Given the description of an element on the screen output the (x, y) to click on. 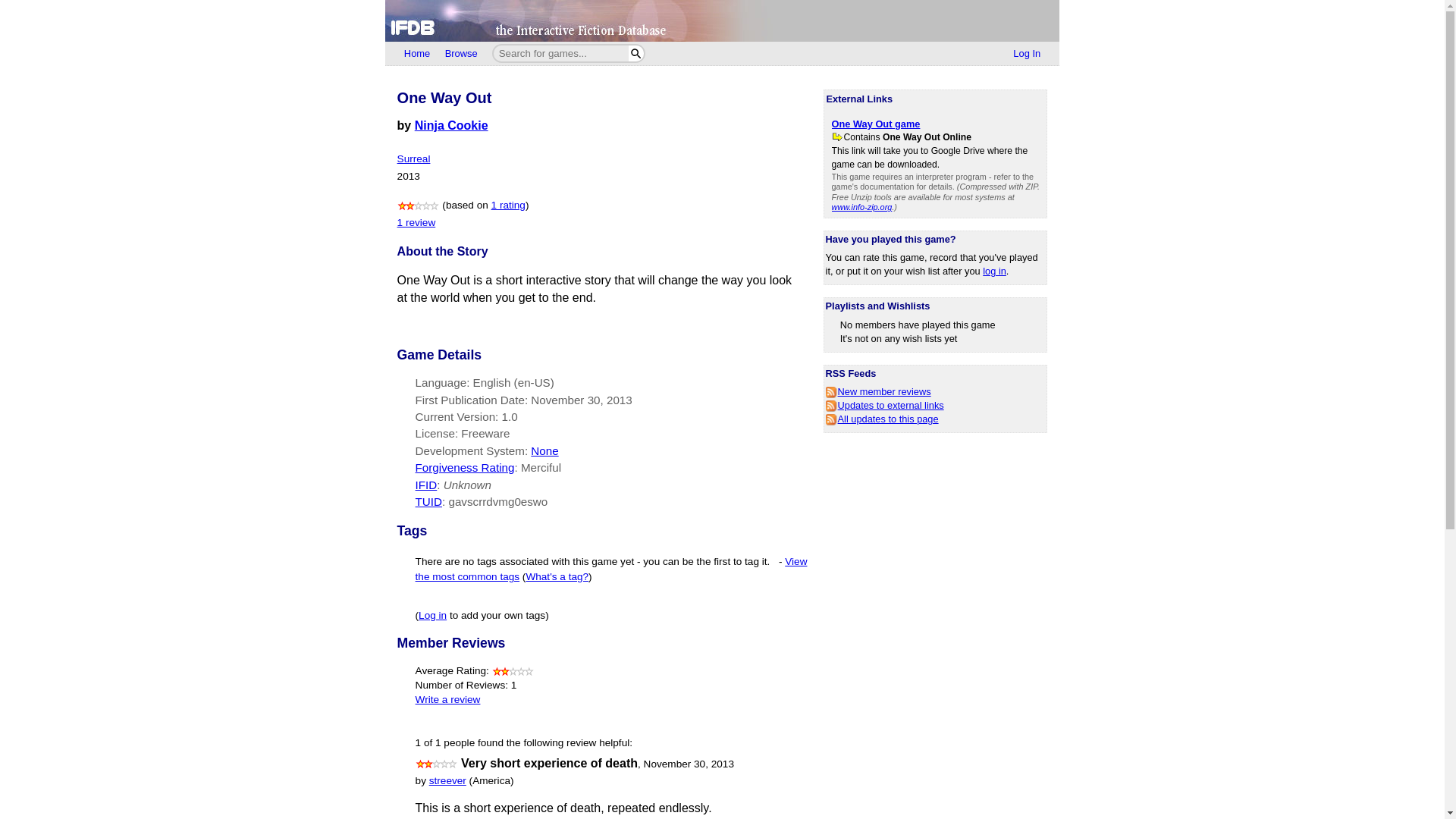
All updates to this page (882, 419)
1 rating (508, 204)
Browse (461, 53)
Ninja Cookie (450, 124)
TUID (428, 501)
2 Stars (436, 764)
Log in (432, 614)
View all ratings and reviews for this game (508, 204)
Log In (1027, 53)
1 review (416, 222)
One Way Out game (875, 123)
2 Stars (418, 205)
Forgiveness Rating (464, 467)
www.info-zip.org (861, 206)
View the most common tags (611, 568)
